Given the description of an element on the screen output the (x, y) to click on. 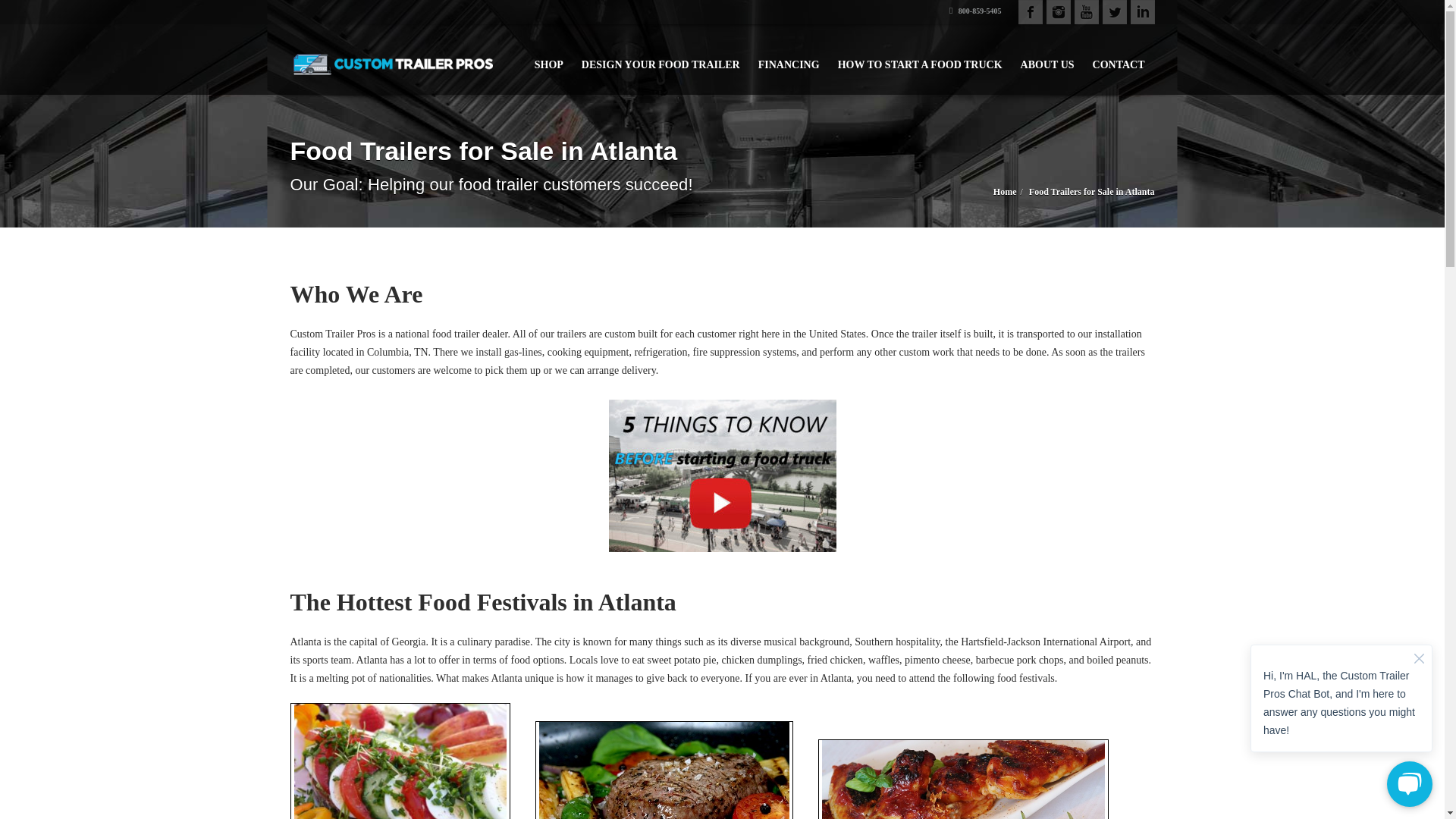
800-859-5405 (975, 10)
HOW TO START A FOOD TRUCK (919, 57)
Home (1004, 191)
Food Trailers for Sale in Atlanta (1091, 191)
FINANCING (788, 57)
CONTACT (1118, 57)
ABOUT US (1047, 57)
DESIGN YOUR FOOD TRAILER (660, 57)
